Given the description of an element on the screen output the (x, y) to click on. 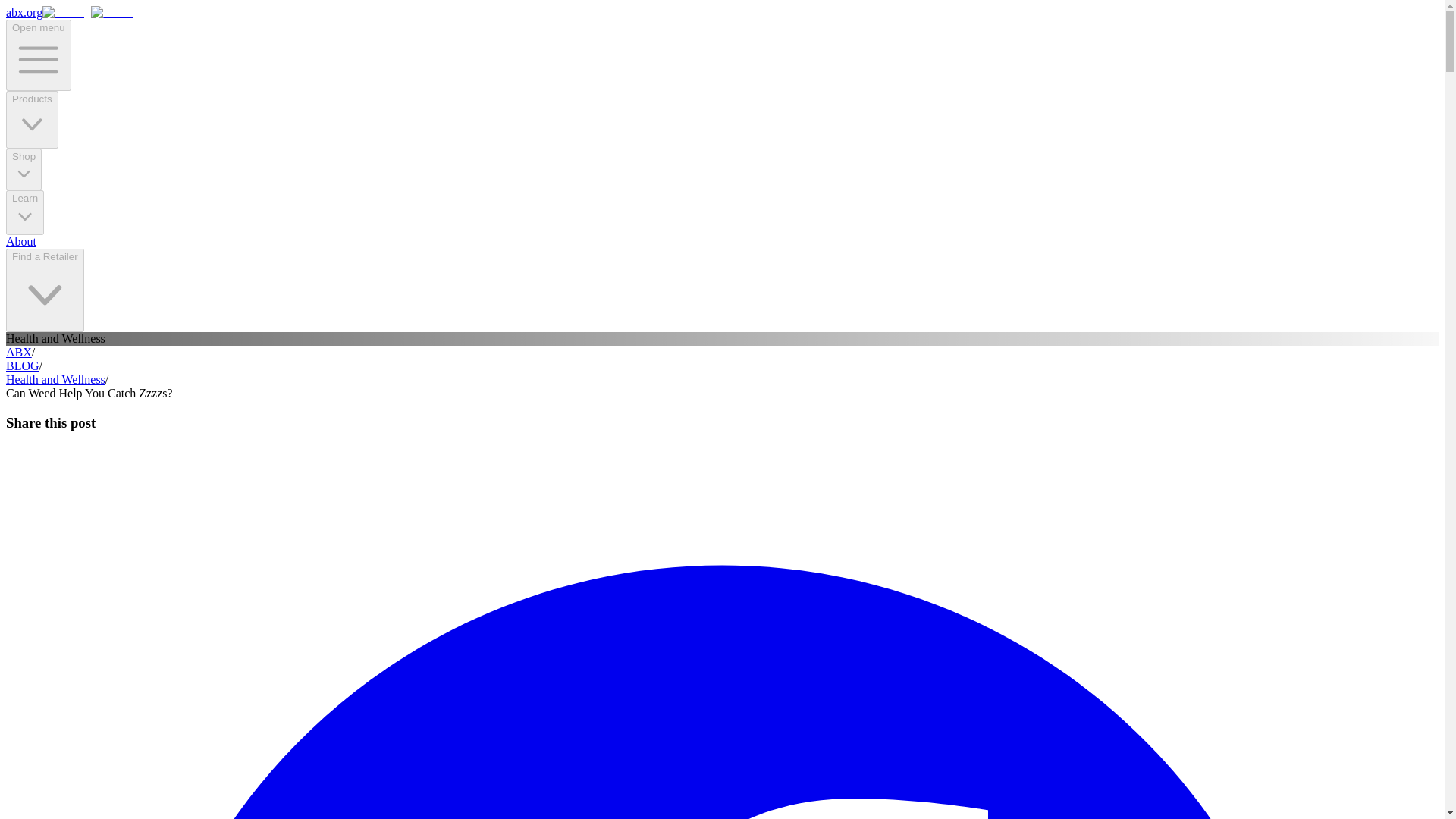
About (20, 241)
Open menu (38, 54)
Products (31, 119)
Find a Retailer (44, 290)
Health and Wellness (54, 379)
BLOG (22, 365)
ABX (18, 351)
abx.org (72, 11)
